Given the description of an element on the screen output the (x, y) to click on. 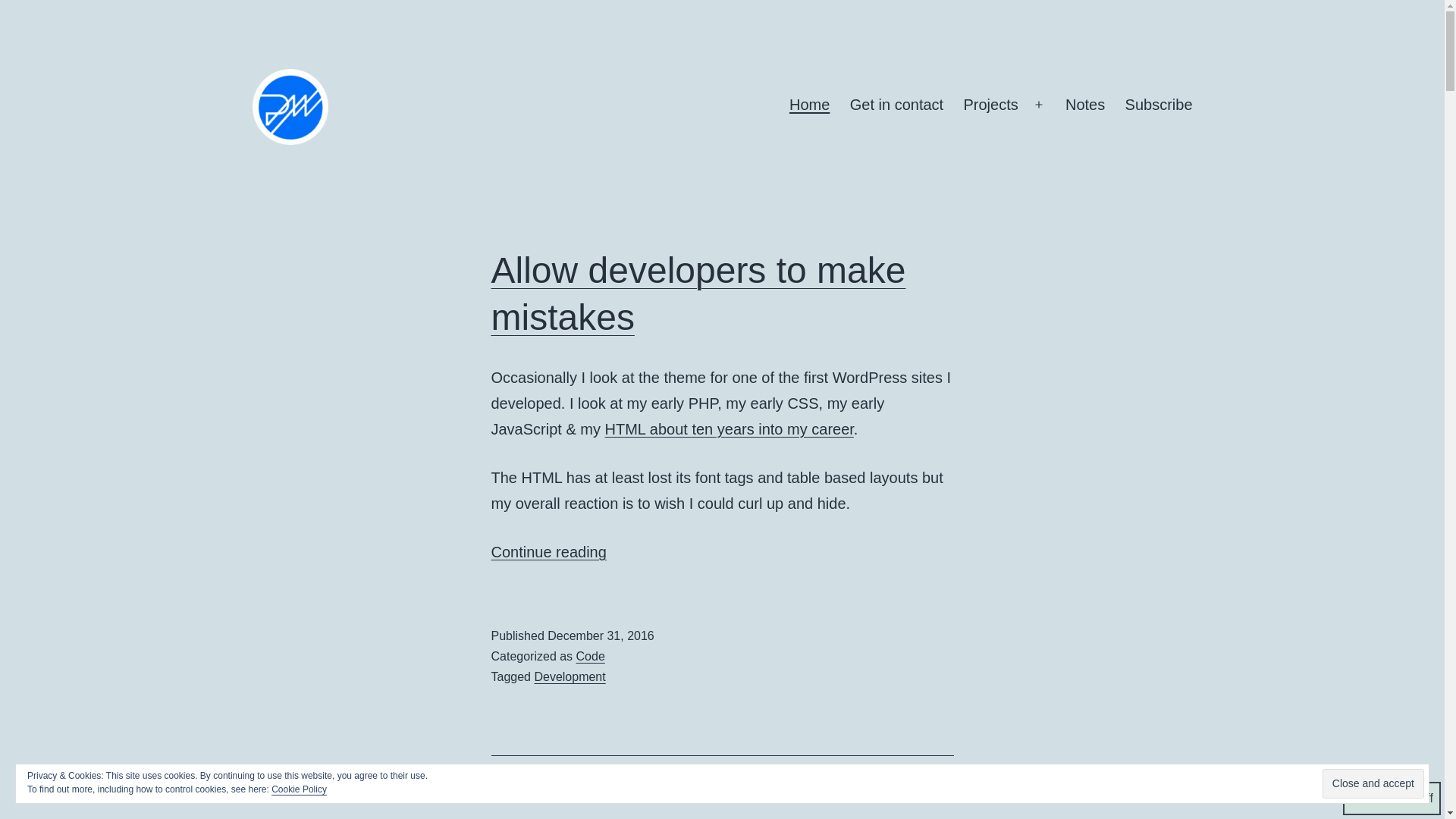
Home (809, 105)
Get in contact (896, 105)
Subscribe (1158, 105)
Notes (1085, 105)
Code (590, 656)
Allow developers to make mistakes (698, 293)
HTML about ten years into my career (729, 428)
Projects (990, 105)
Close and accept (549, 551)
Development (1372, 783)
